Given the description of an element on the screen output the (x, y) to click on. 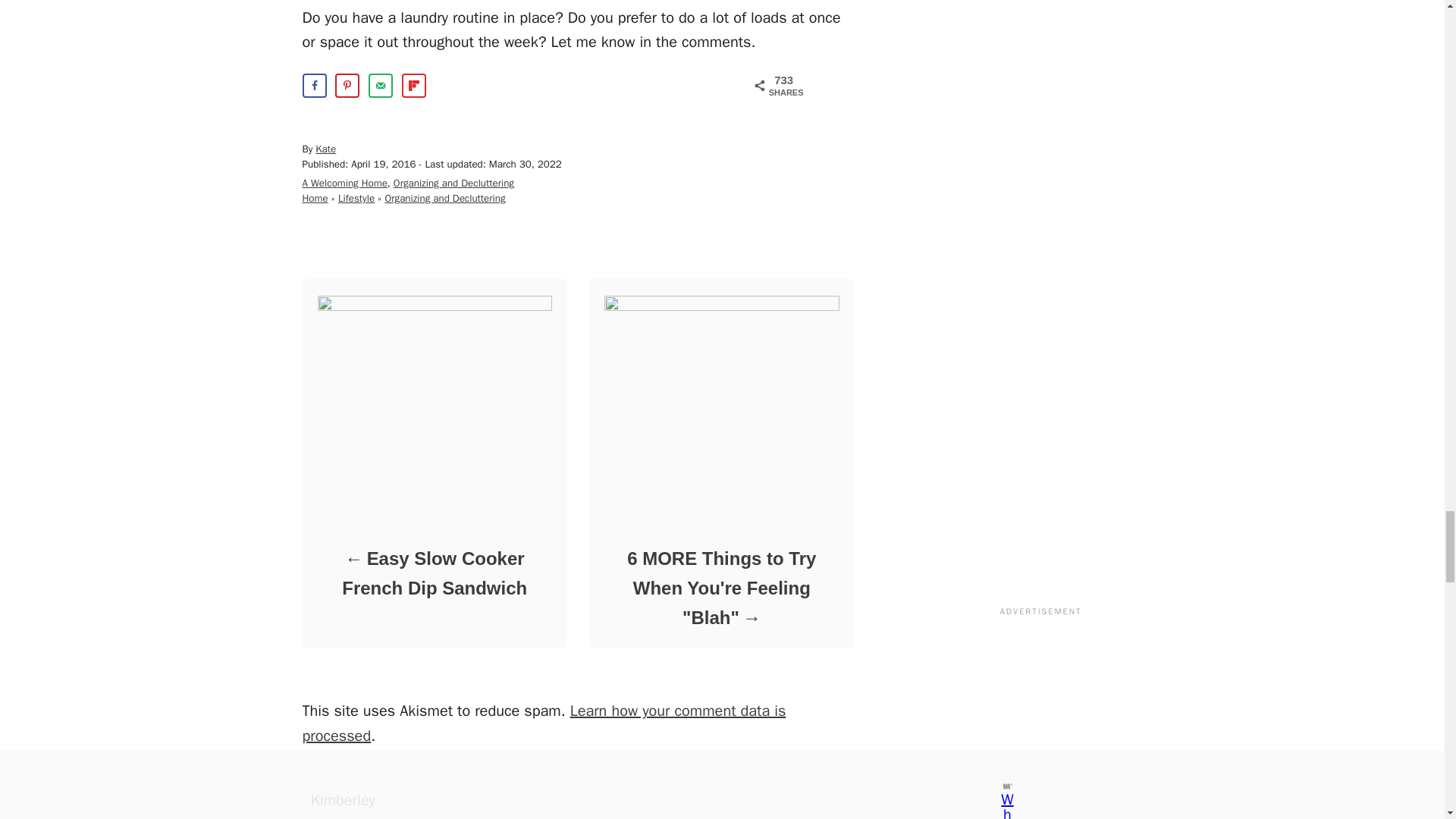
Send over email (380, 85)
Share on Facebook (313, 85)
Save to Pinterest (346, 85)
Share on Flipboard (413, 85)
